Given the description of an element on the screen output the (x, y) to click on. 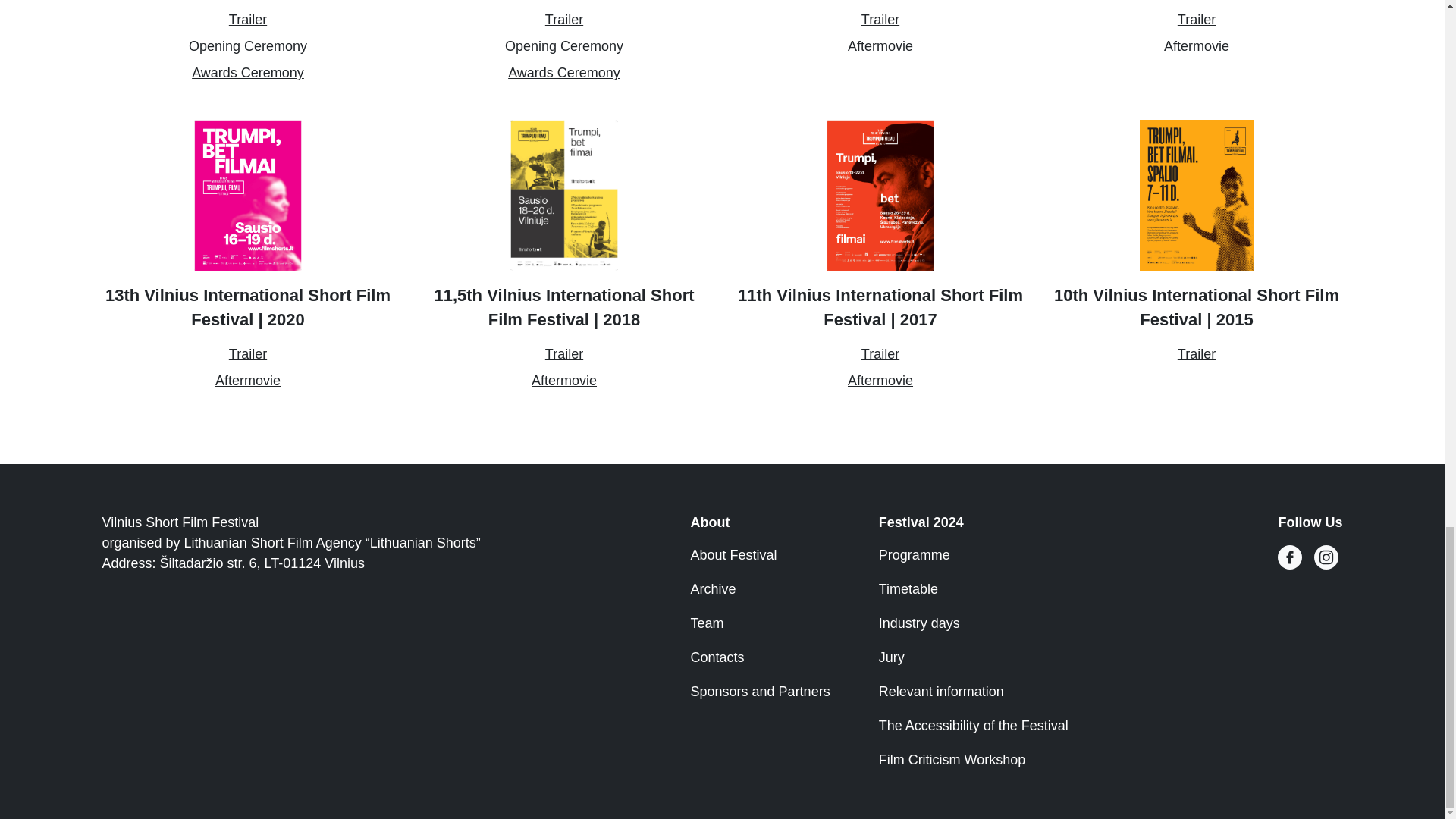
Awards Ceremony (248, 73)
Trailer (247, 19)
Awards Ceremony (564, 73)
Trailer (563, 19)
Opening Ceremony (248, 46)
Opening Ceremony (564, 46)
